Given the description of an element on the screen output the (x, y) to click on. 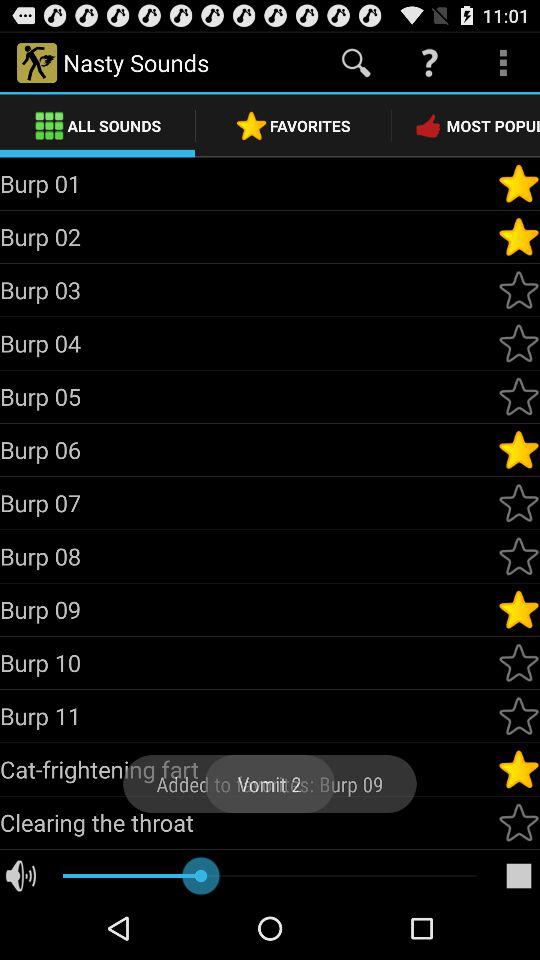
a place to deselect the burp 02 file 's gold star (519, 237)
